Given the description of an element on the screen output the (x, y) to click on. 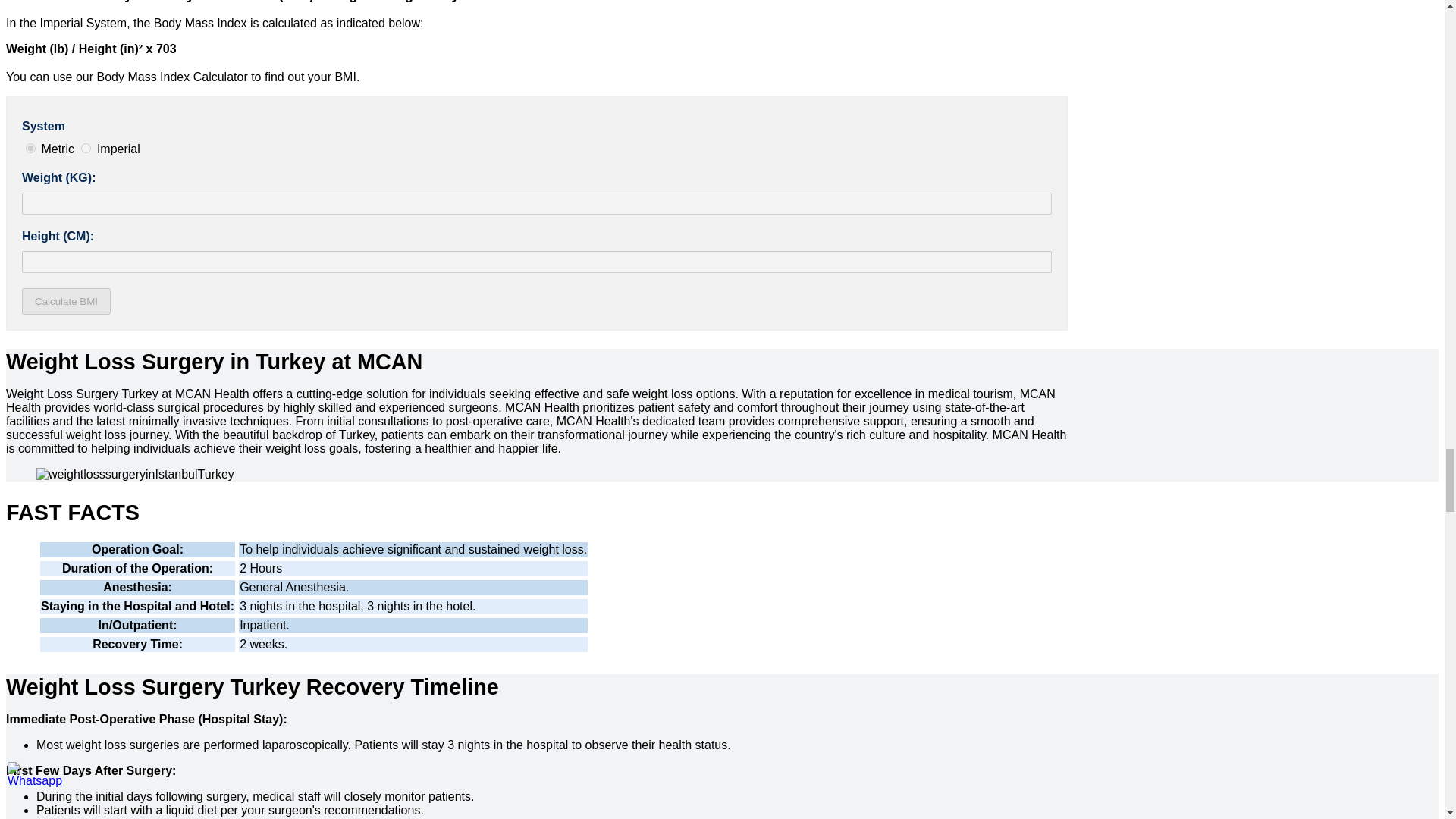
Calculate BMI (65, 301)
on (30, 148)
on (85, 148)
